Given the description of an element on the screen output the (x, y) to click on. 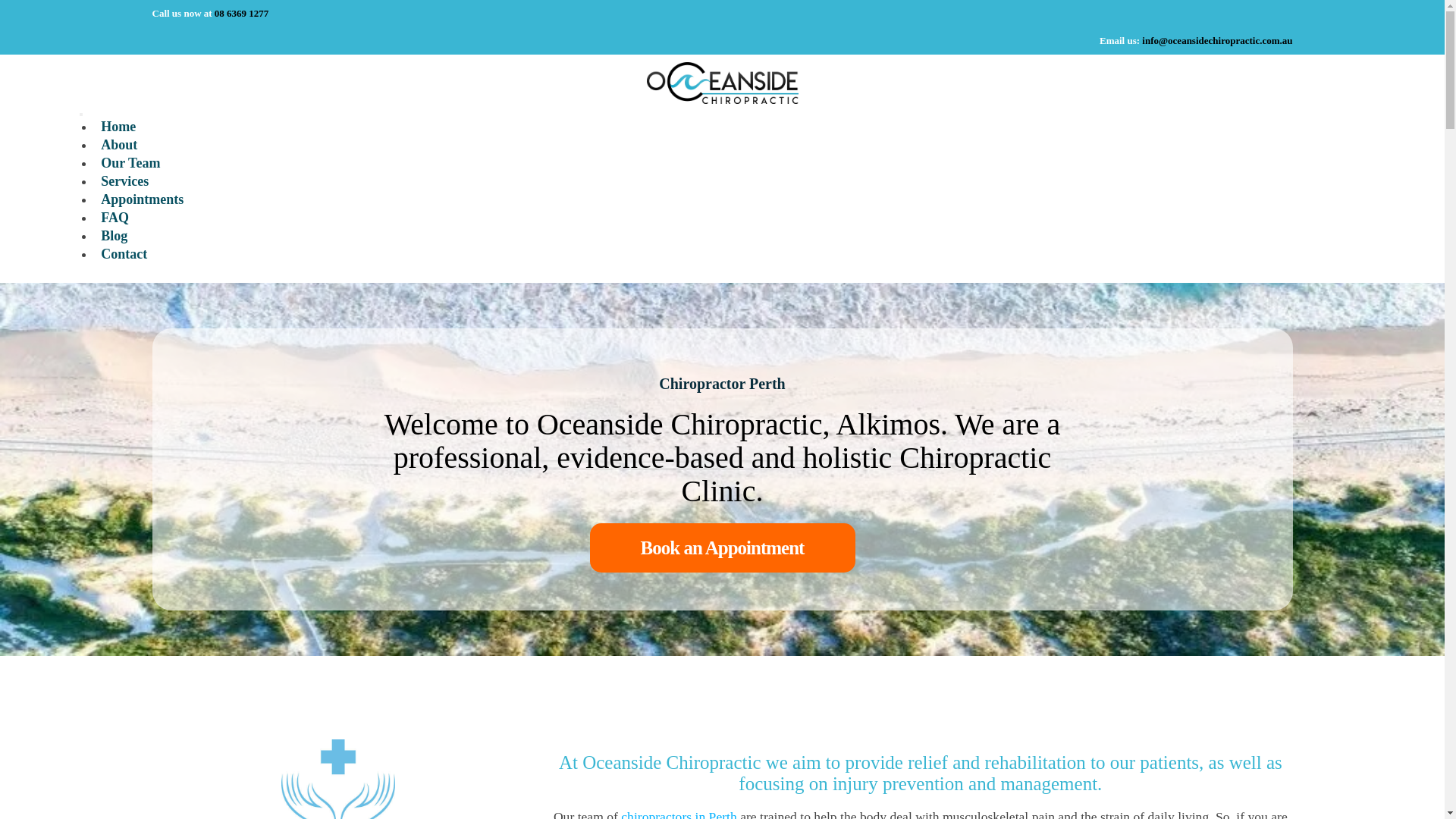
Appointments Element type: text (141, 199)
08 6369 1277 Element type: text (241, 12)
FAQ Element type: text (114, 217)
Services Element type: text (124, 180)
Our Team Element type: text (130, 162)
Contact Element type: text (123, 253)
Book an Appointment Element type: text (722, 547)
Blog Element type: text (113, 235)
Home Element type: text (117, 126)
About Element type: text (118, 144)
info@oceansidechiropractic.com.au Element type: text (1217, 40)
